Given the description of an element on the screen output the (x, y) to click on. 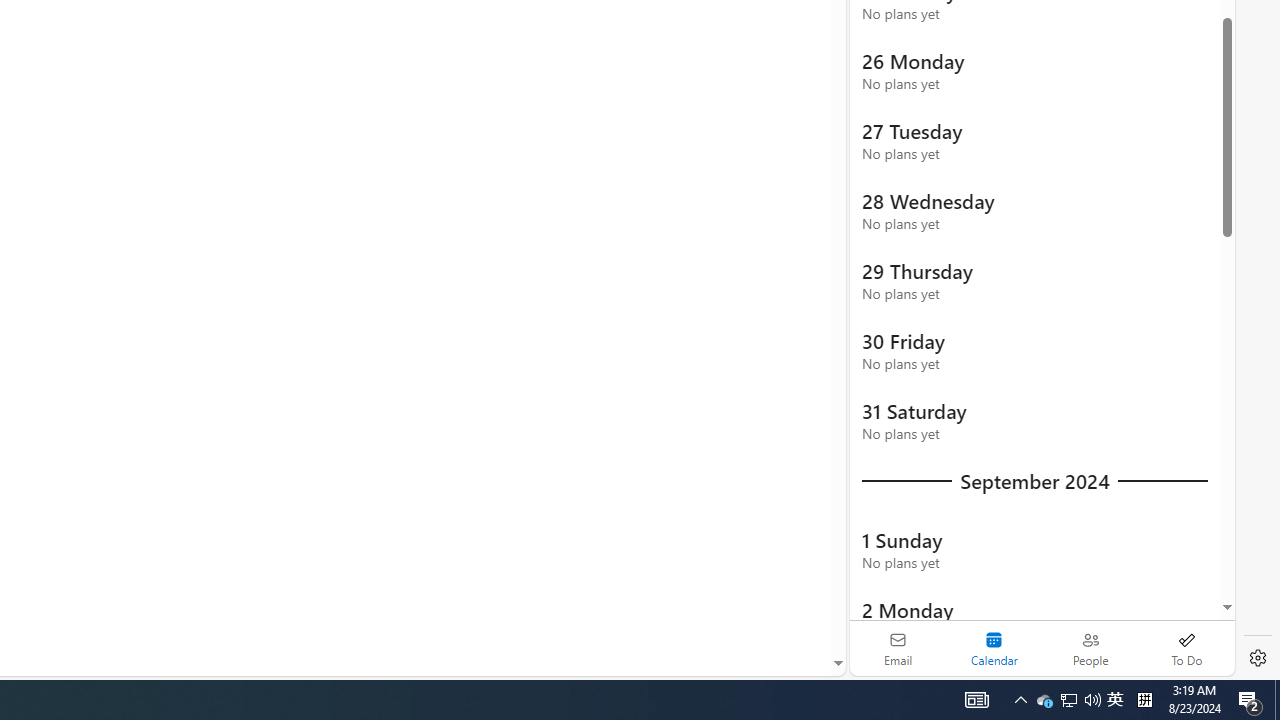
To Do (1186, 648)
Selected calendar module. Date today is 22 (994, 648)
Email (898, 648)
People (1090, 648)
